Given the description of an element on the screen output the (x, y) to click on. 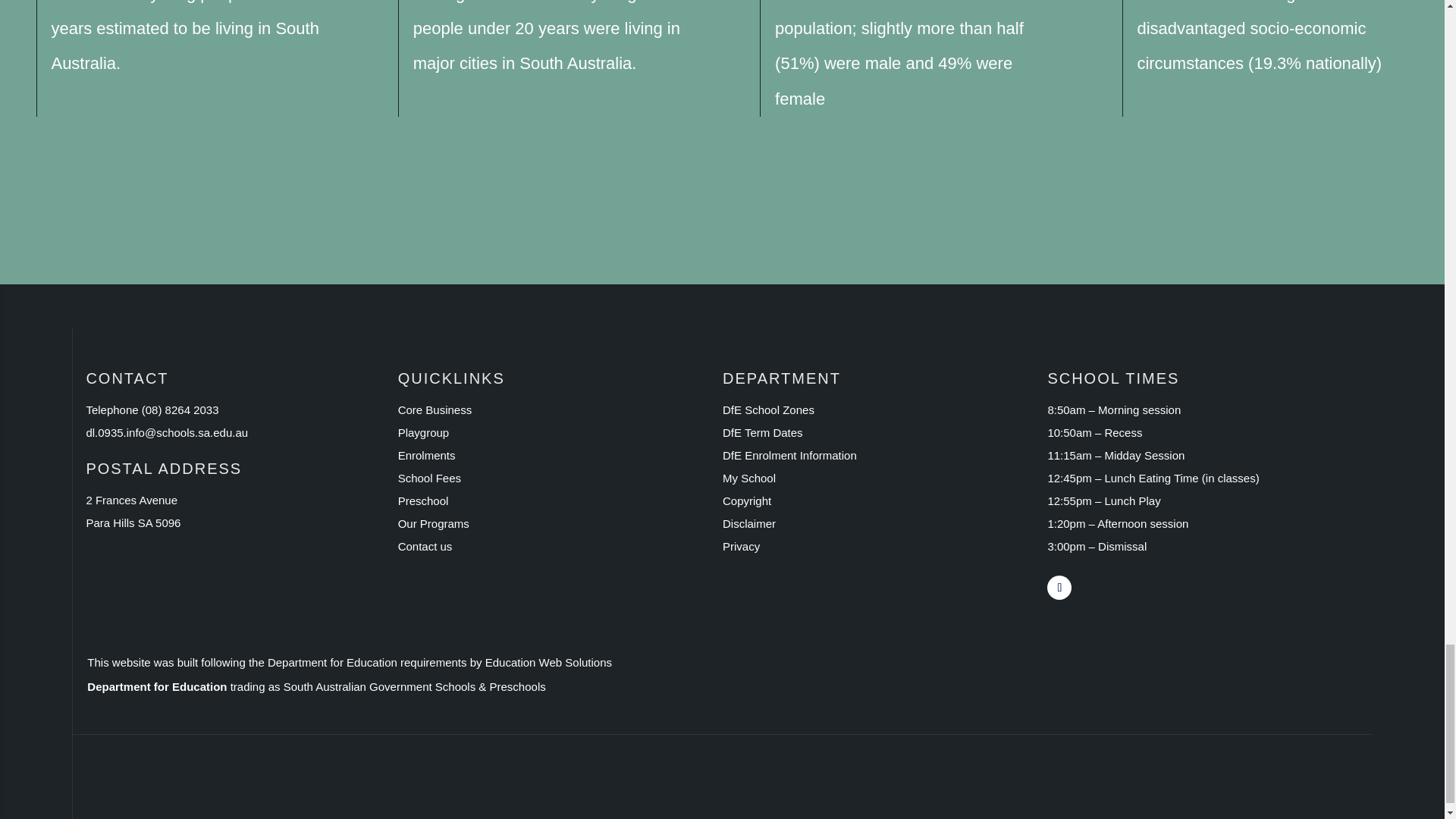
Department for Education  (157, 686)
Go to the Department for Education Website (767, 409)
Disclaimer (749, 522)
Go to the Department for Education Website (762, 431)
Education Web Solutions (547, 662)
cc-creative-commons-rev (614, 787)
Go to the Department for Education Website (789, 454)
Copyright Information (746, 500)
Follow on Facebook (1058, 587)
Go to the My School website (749, 477)
ews-210px (844, 787)
de-white (151, 787)
Privacy Information (741, 545)
sagov-white (382, 787)
